Given the description of an element on the screen output the (x, y) to click on. 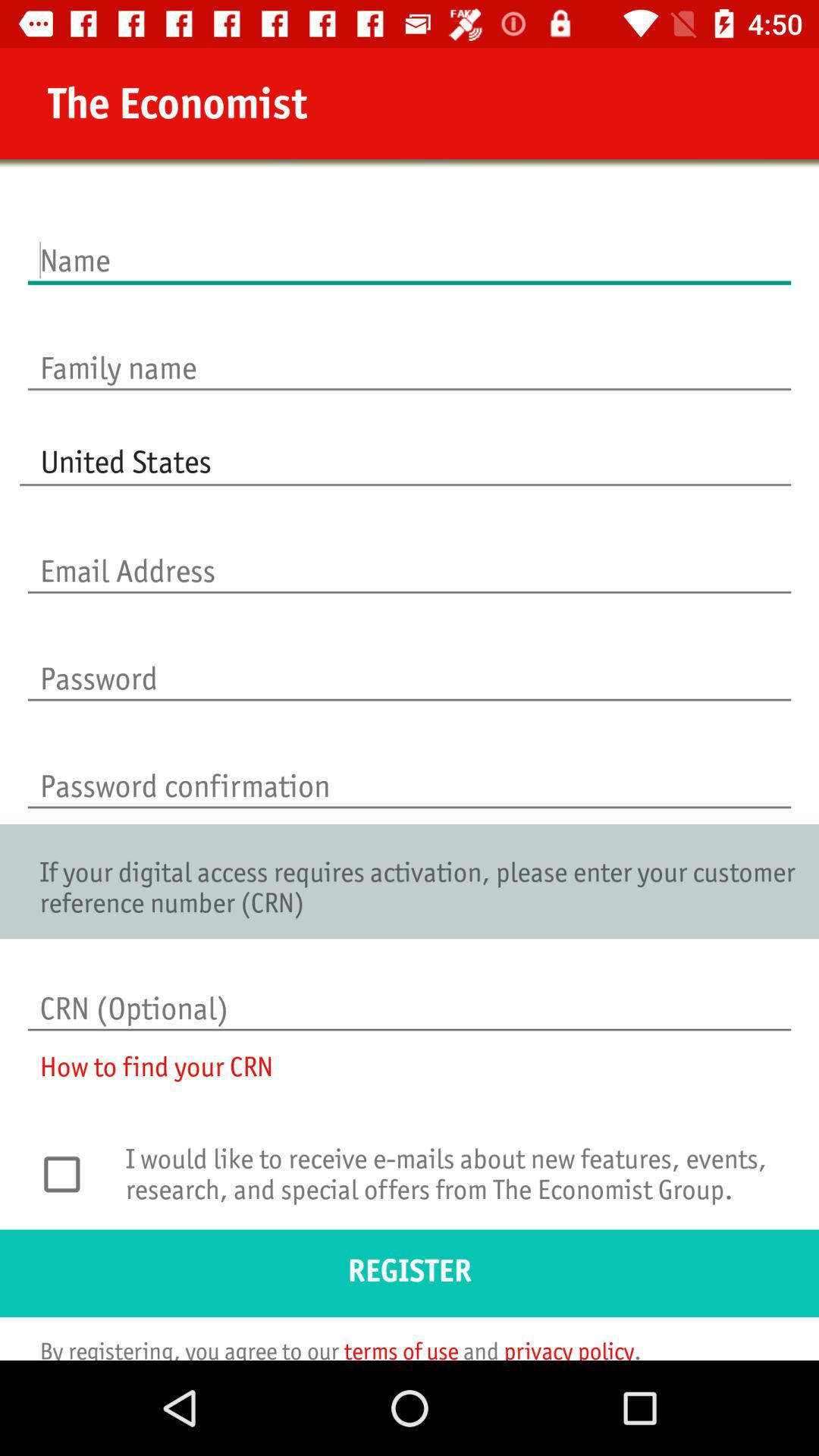
type in your email address (409, 555)
